Given the description of an element on the screen output the (x, y) to click on. 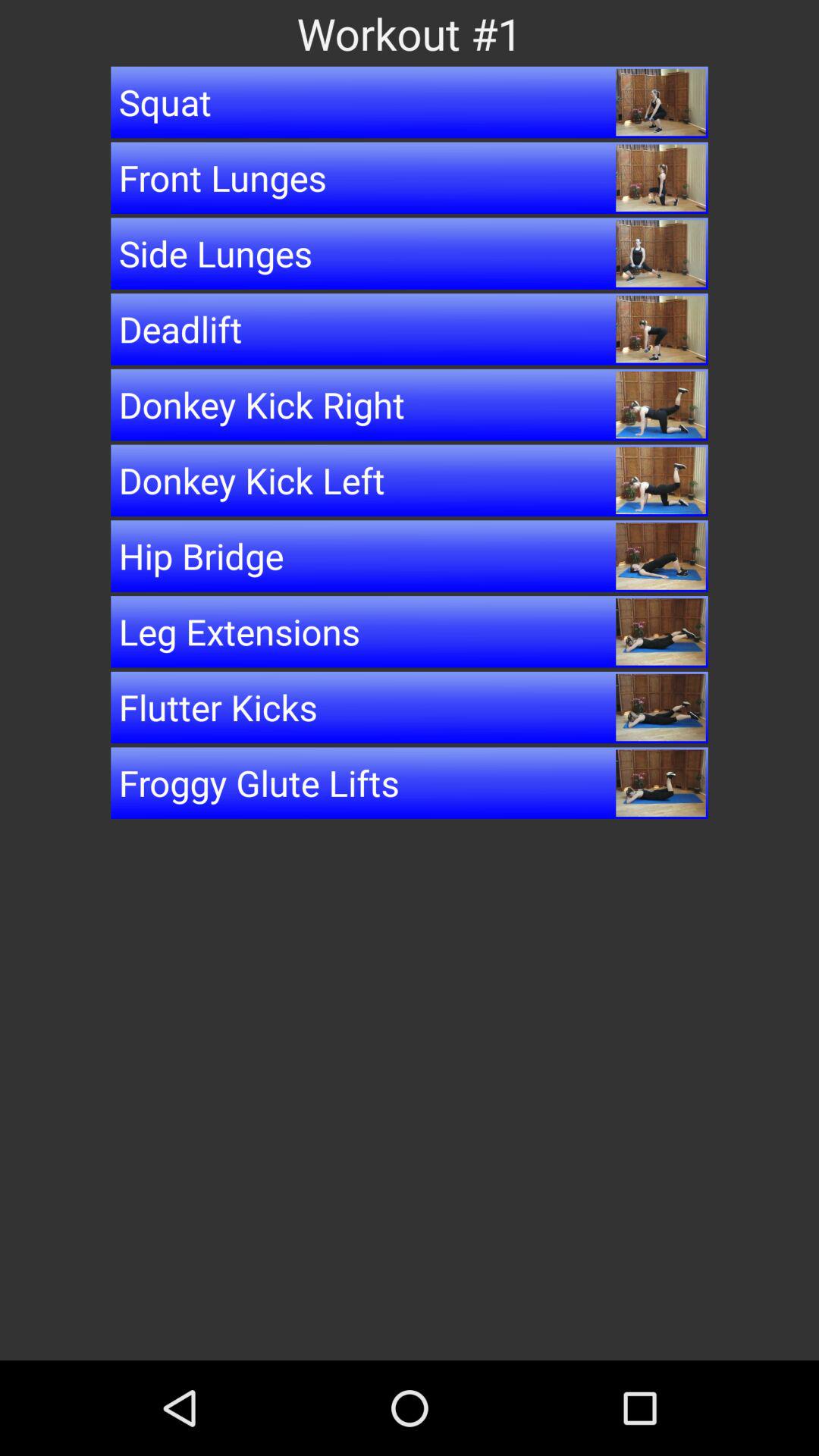
press the item above side lunges icon (409, 177)
